Given the description of an element on the screen output the (x, y) to click on. 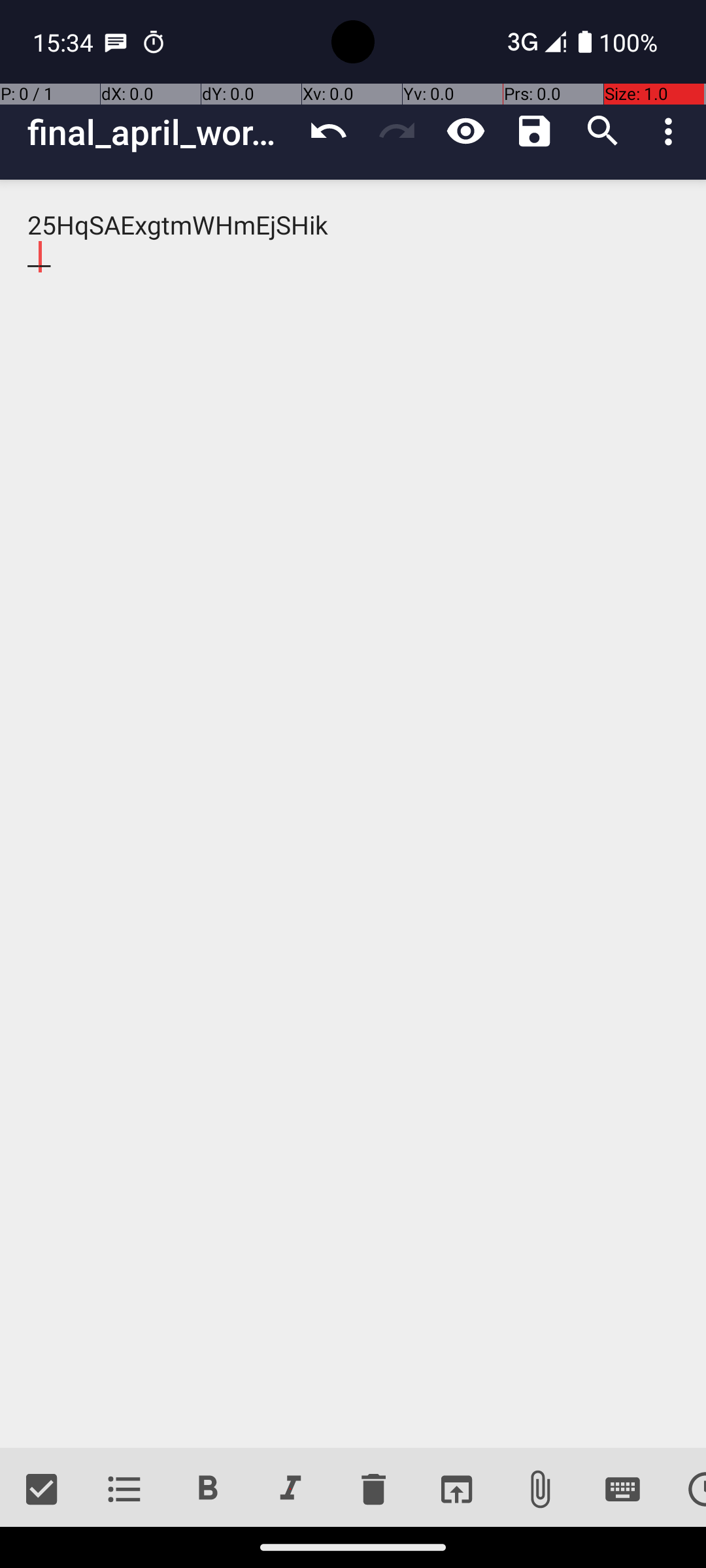
final_april_workout_routine Element type: android.widget.TextView (160, 131)
25HqSAExgtmWHmEjSHik
__ Element type: android.widget.EditText (353, 813)
